Given the description of an element on the screen output the (x, y) to click on. 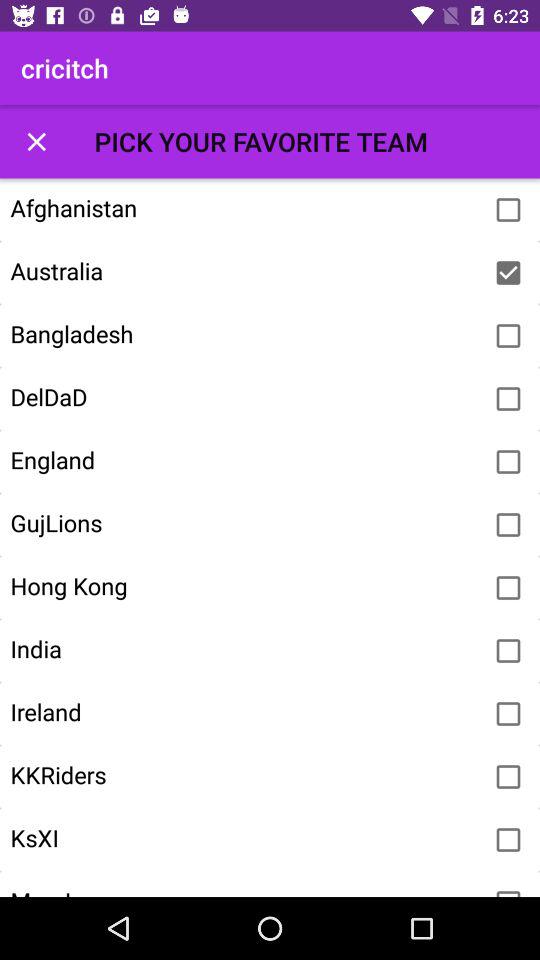
select ksxi as favorite team (508, 840)
